Given the description of an element on the screen output the (x, y) to click on. 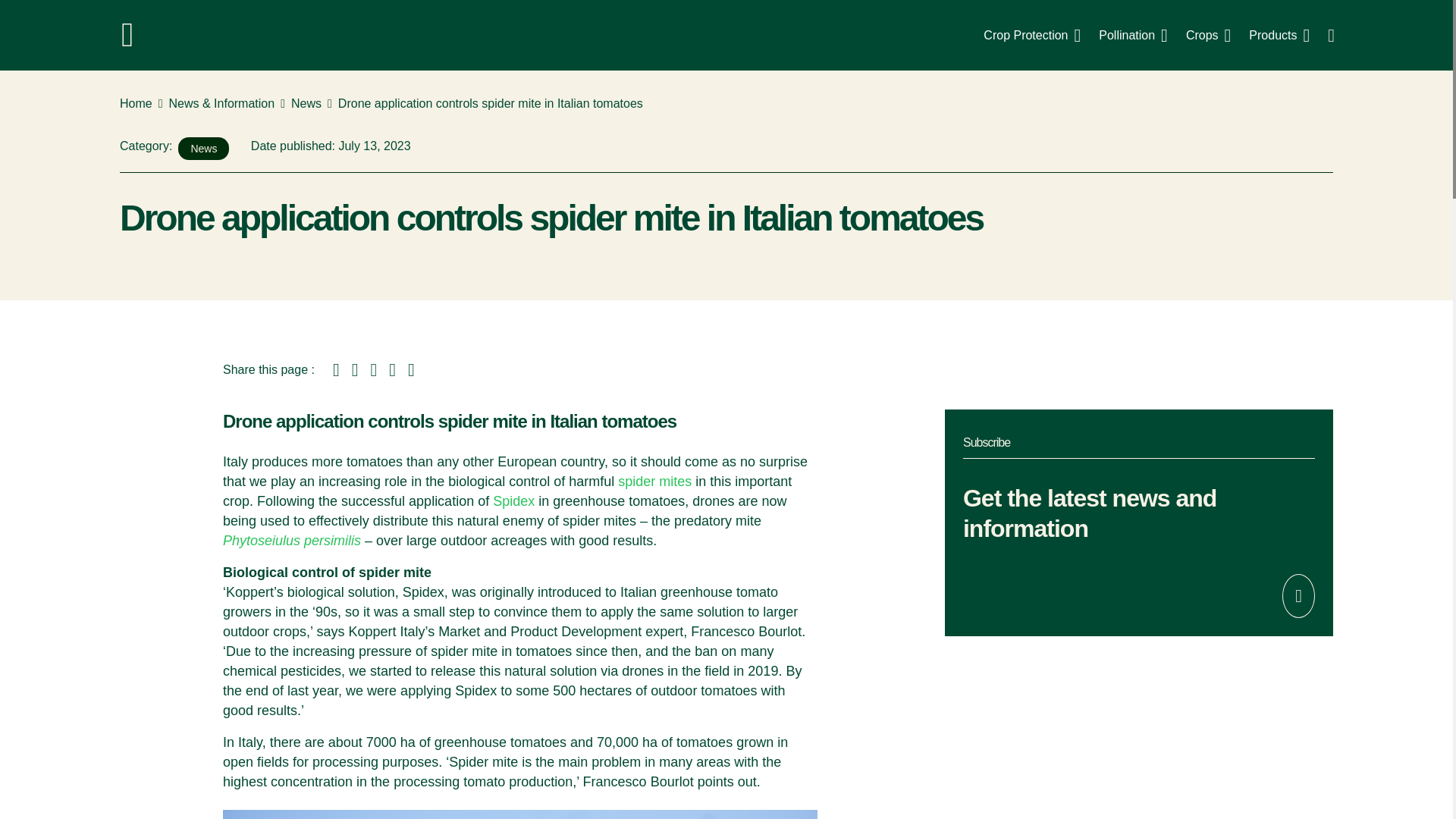
Crops (1208, 34)
Crop Protection (1032, 34)
Pollination (1133, 34)
Get the latest news and information (1138, 522)
Products (1278, 34)
Home (135, 104)
News (306, 104)
